Given the description of an element on the screen output the (x, y) to click on. 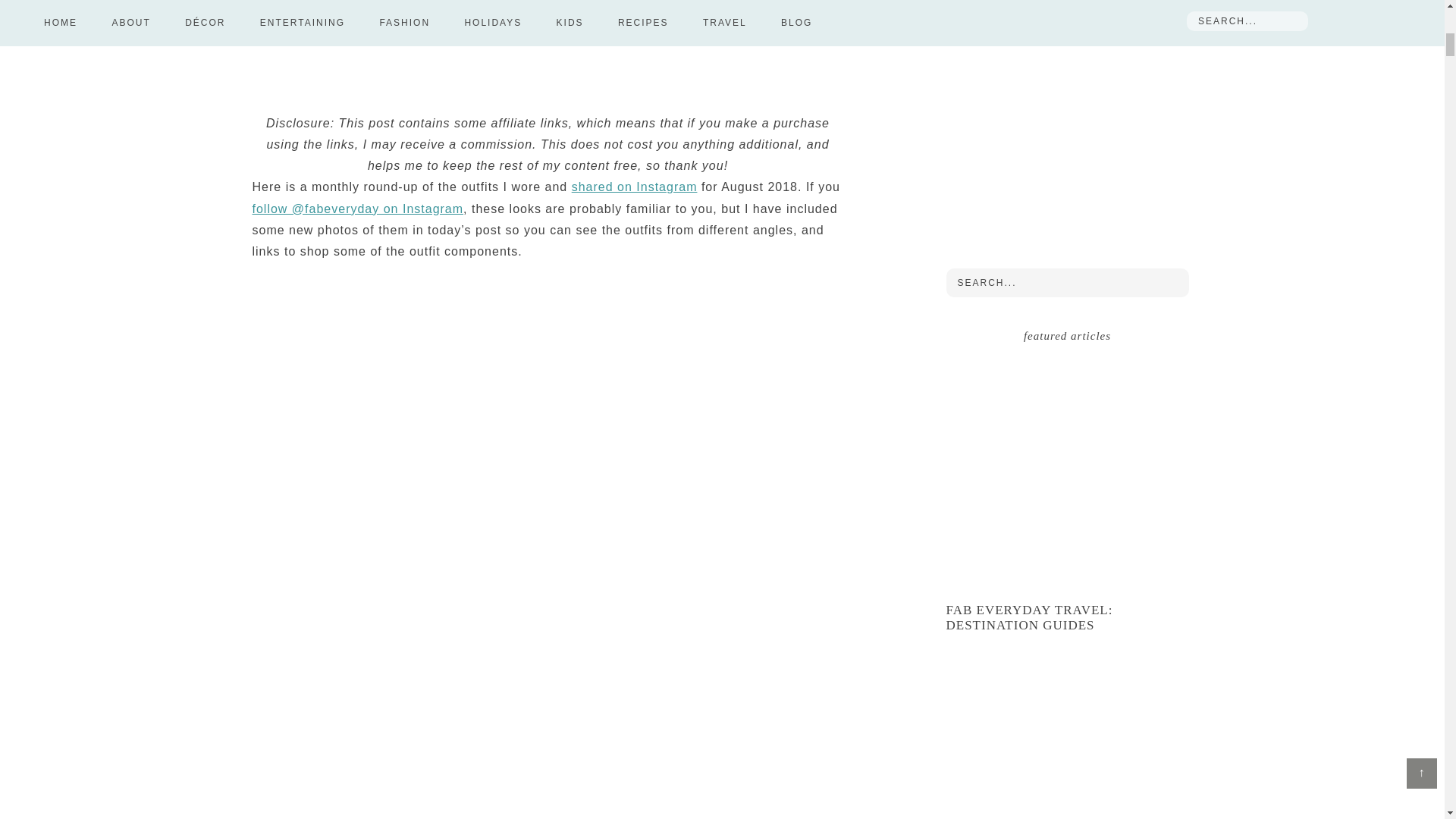
Fab Everyday Travel: Destination Guides (1029, 617)
Fab Everyday Party Printables (1067, 744)
Fab Everyday Travel: Destination Guides (1067, 475)
